Given the description of an element on the screen output the (x, y) to click on. 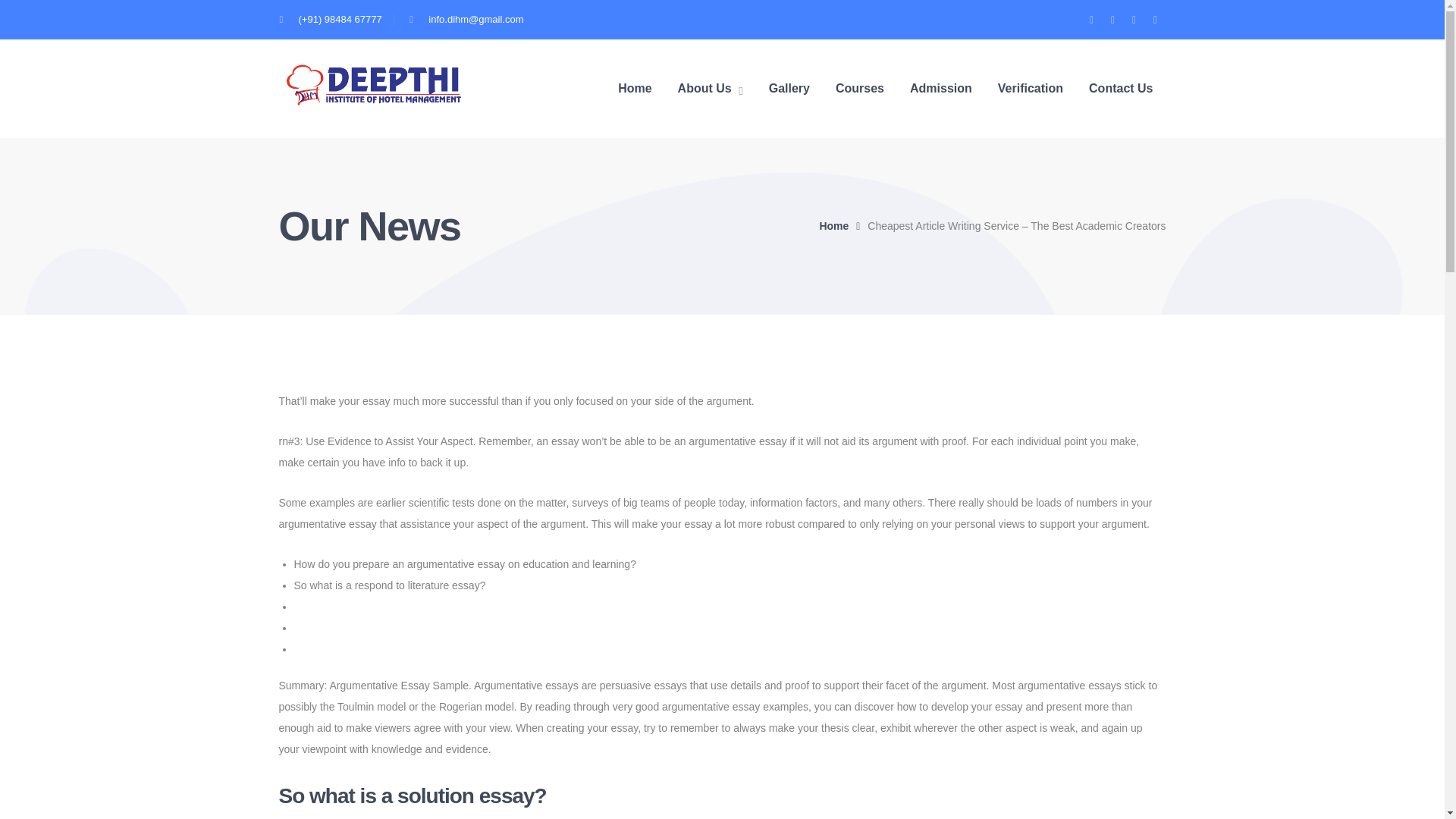
Instagram (1134, 19)
Youtube Profile (1155, 19)
Instagram Profile (1134, 19)
DIHM (373, 83)
Youtube (1155, 19)
Facebook Profile (1113, 19)
Verification (1029, 88)
Gallery (788, 88)
Home (633, 88)
Facebook (1113, 19)
Twitter (1091, 19)
Courses (859, 88)
Home (842, 225)
Admission (941, 88)
Contact Us (1121, 88)
